Given the description of an element on the screen output the (x, y) to click on. 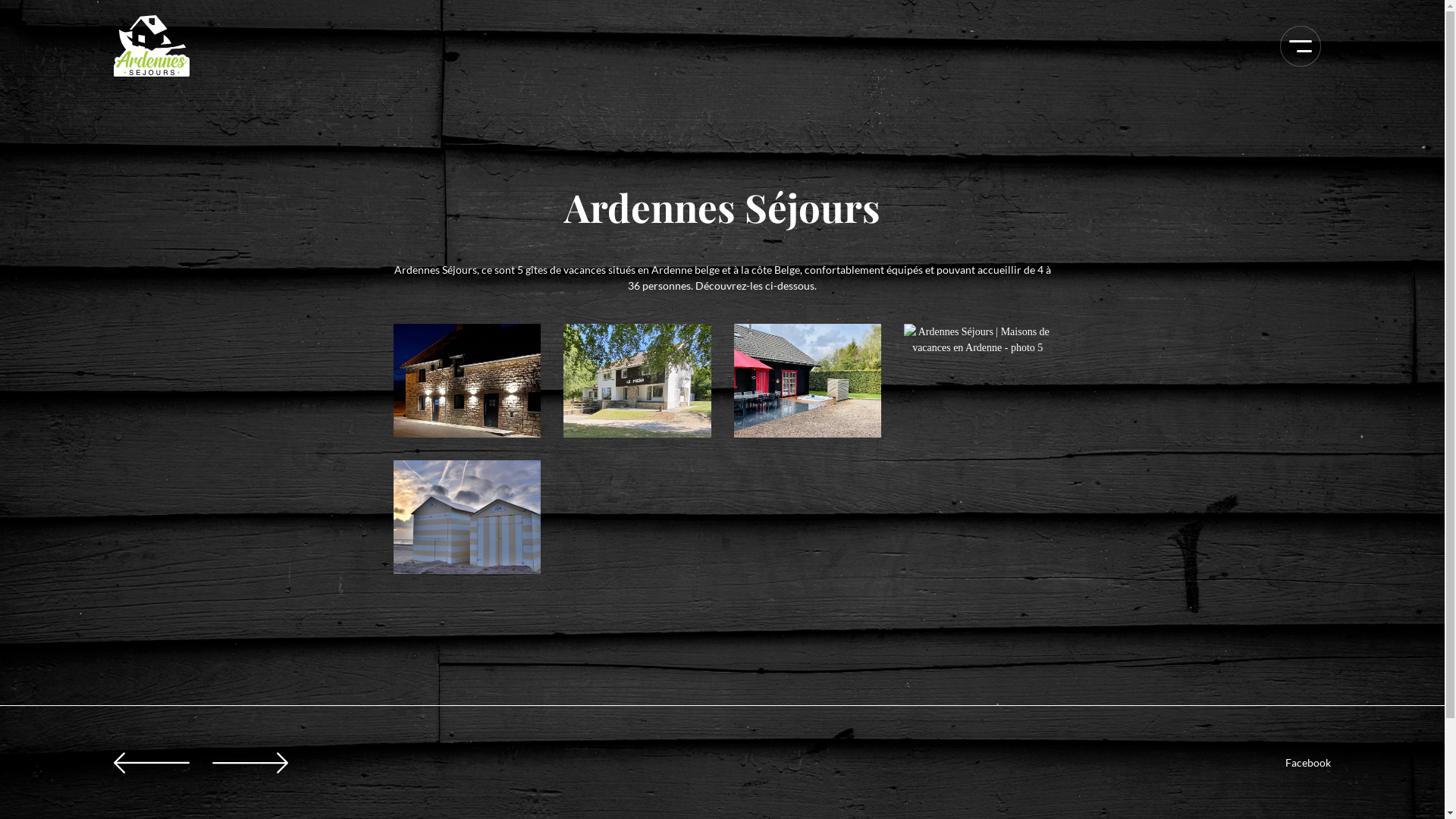
Previous Element type: text (151, 761)
Next Element type: text (250, 761)
Facebook Element type: text (1307, 762)
